Given the description of an element on the screen output the (x, y) to click on. 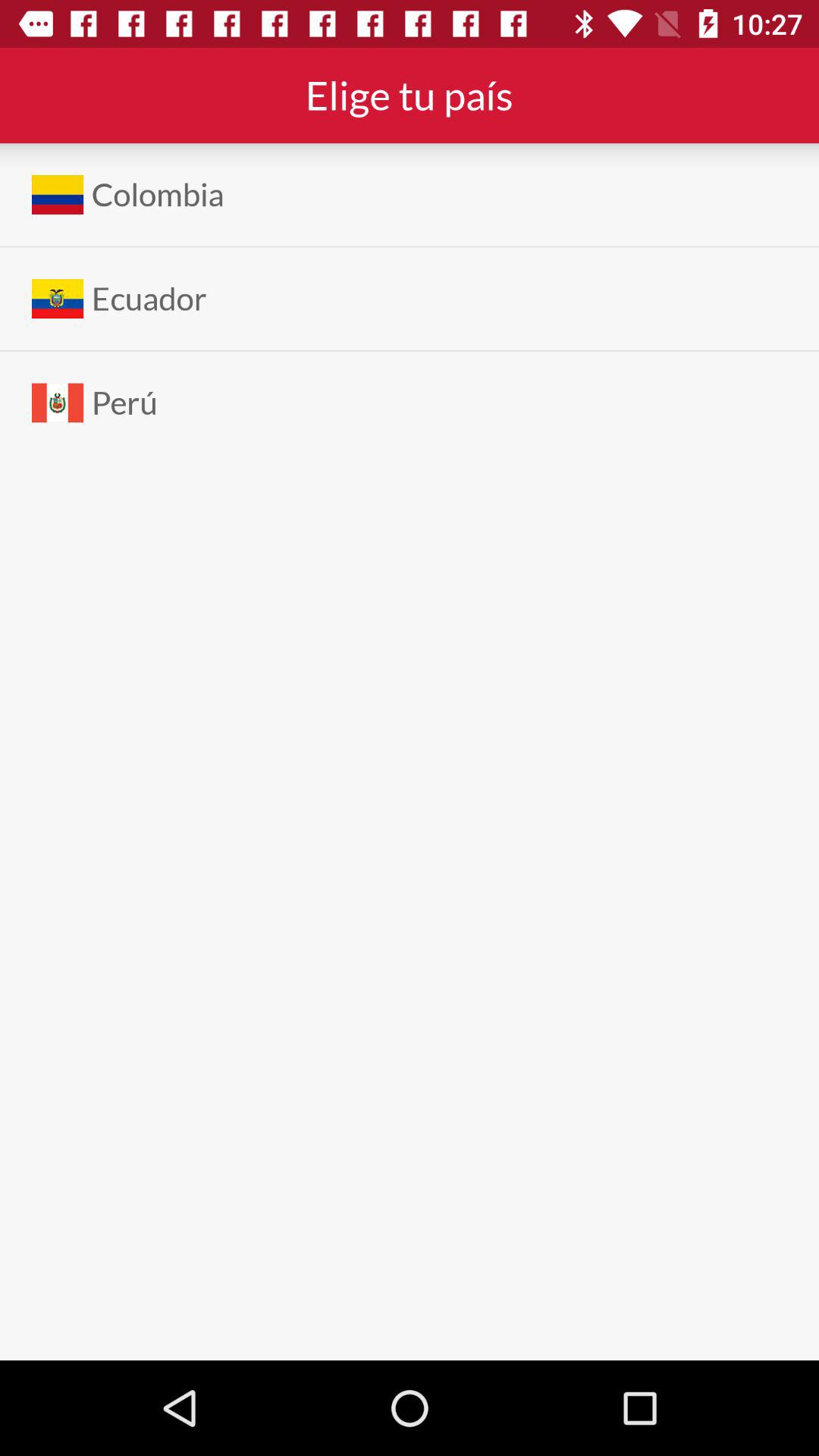
open the colombia item (157, 194)
